Given the description of an element on the screen output the (x, y) to click on. 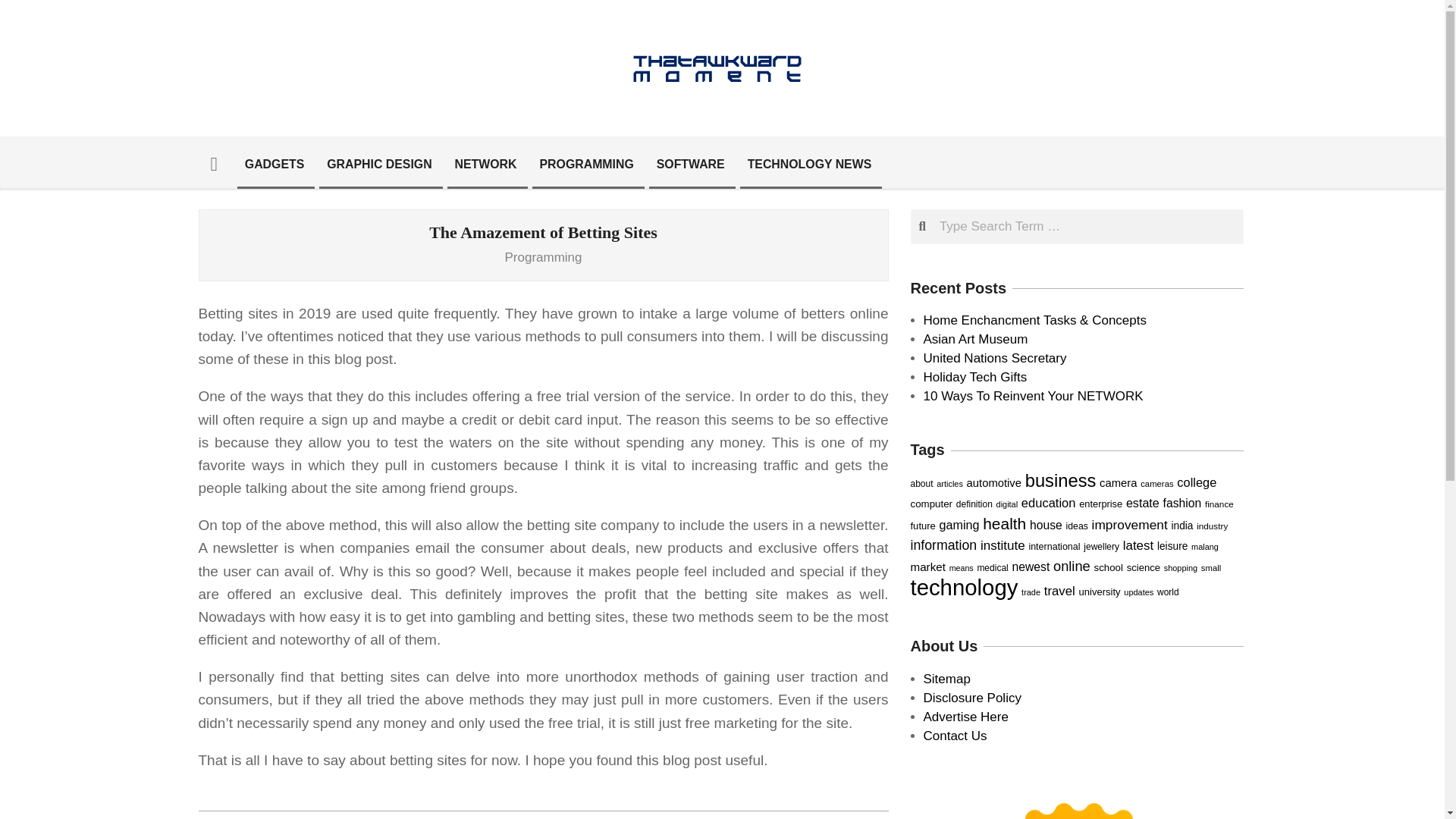
10 Ways To Reinvent Your NETWORK (1032, 396)
future (922, 525)
house (1045, 524)
NETWORK (486, 163)
PROGRAMMING (586, 163)
Holiday Tech Gifts (975, 377)
finance (1219, 503)
estate (1141, 502)
TECHNOLOGY NEWS (809, 163)
college (1195, 481)
business (1060, 480)
automotive (994, 482)
Asian Art Museum (975, 339)
about (921, 483)
camera (1118, 482)
